Given the description of an element on the screen output the (x, y) to click on. 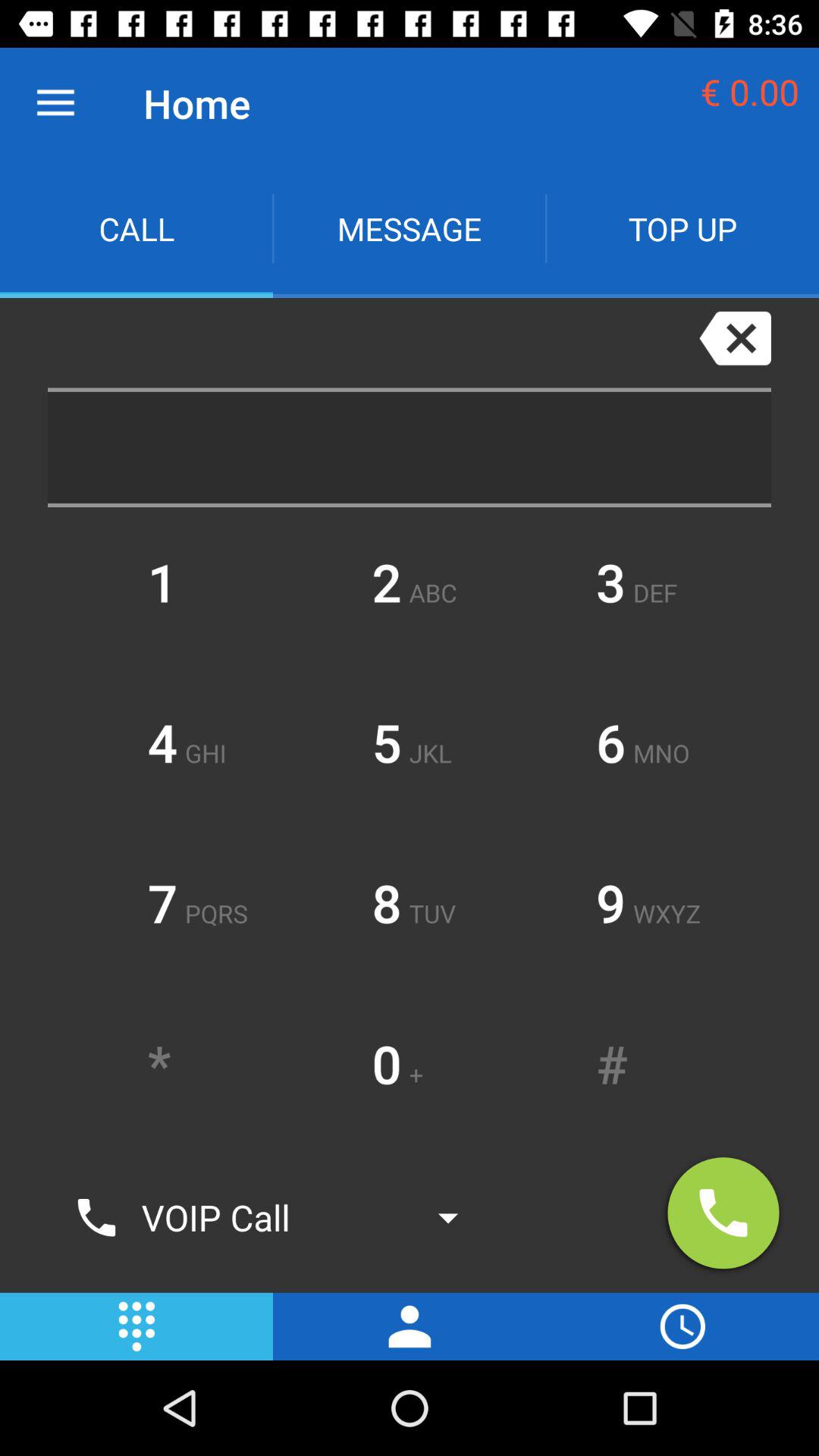
press app next to message icon (682, 228)
